Given the description of an element on the screen output the (x, y) to click on. 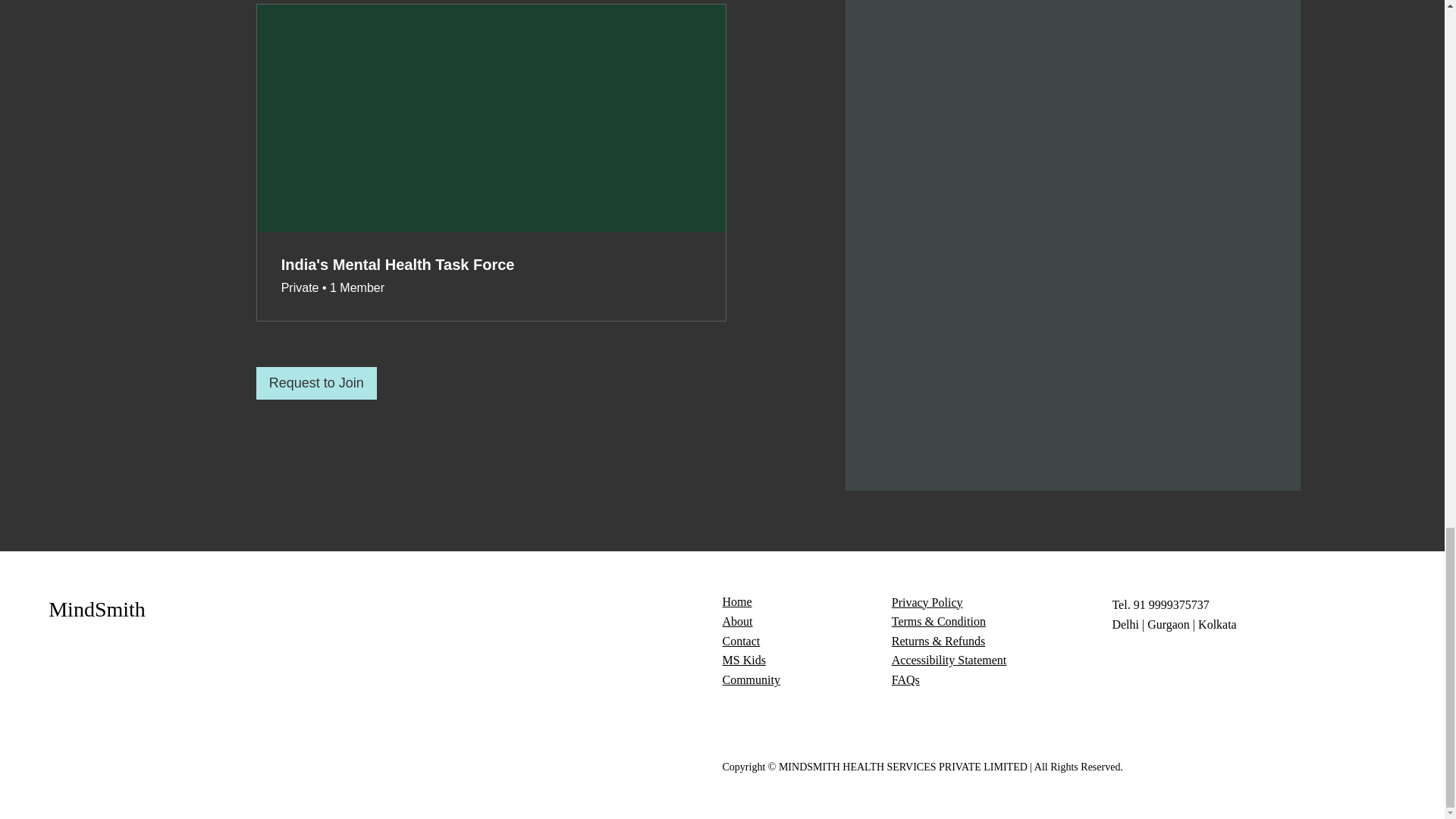
Home (736, 601)
MS Kids (743, 659)
Accessibility Statement (949, 659)
About (737, 621)
Request to Join (316, 382)
FAQs (905, 679)
Privacy Policy (926, 602)
Contact (741, 640)
Community (750, 679)
